Given the description of an element on the screen output the (x, y) to click on. 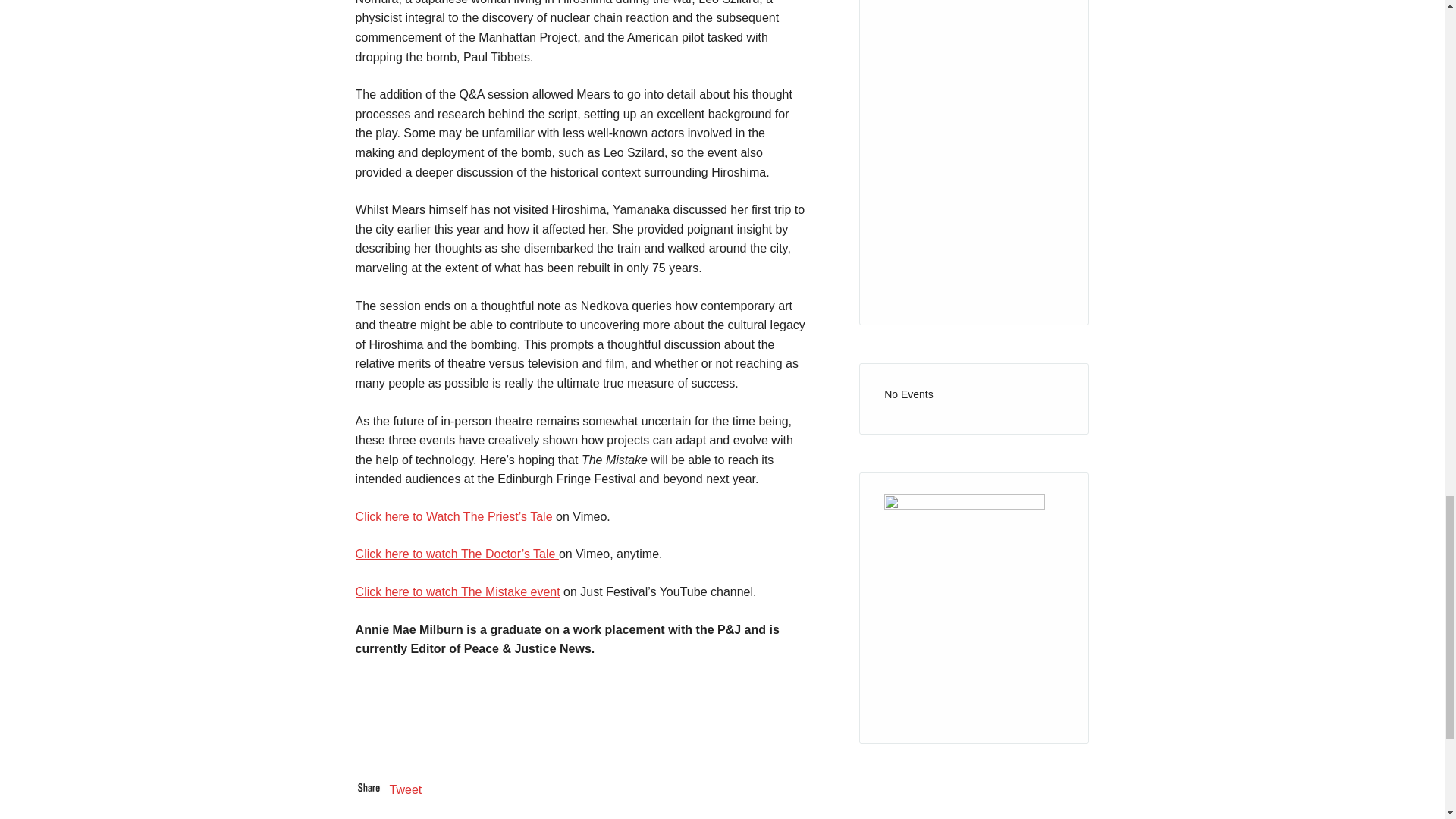
poster for event in picture format (973, 83)
Click here to watch The Mistake event (457, 591)
Tweet (406, 789)
